Given the description of an element on the screen output the (x, y) to click on. 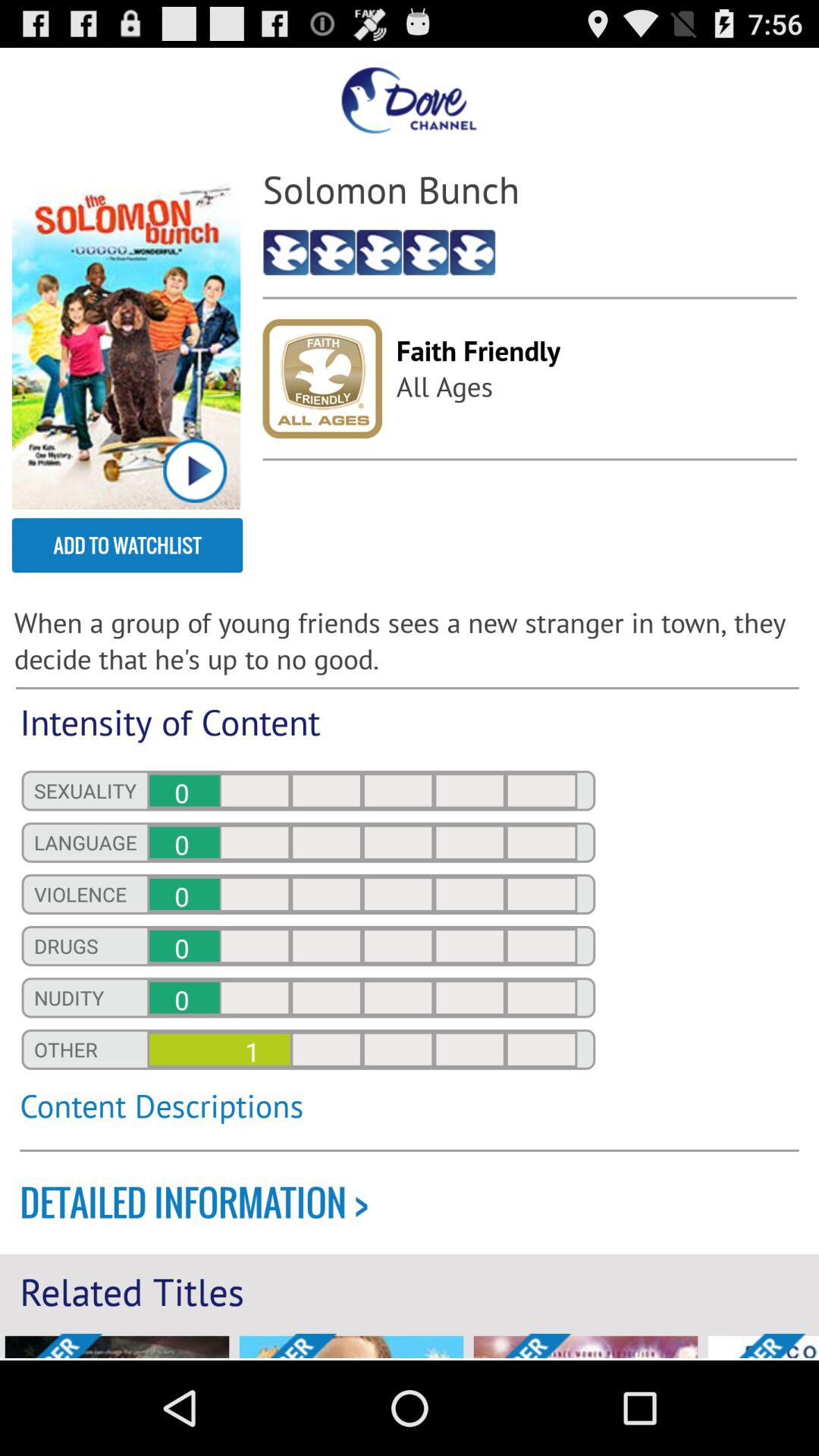
jump to the add to watchlist item (126, 545)
